Given the description of an element on the screen output the (x, y) to click on. 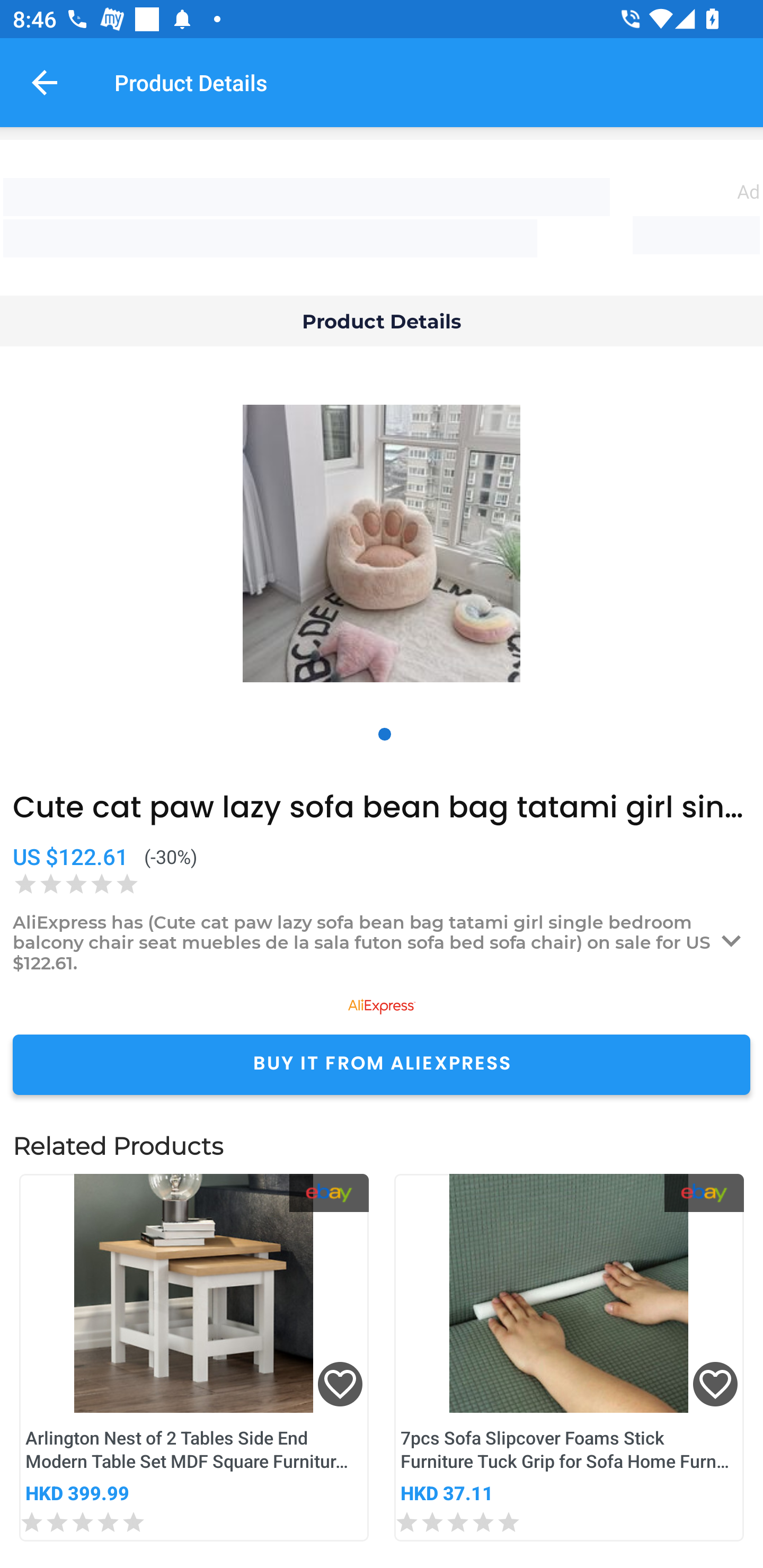
Navigate up (44, 82)
BUY IT FROM ALIEXPRESS (381, 1064)
